Given the description of an element on the screen output the (x, y) to click on. 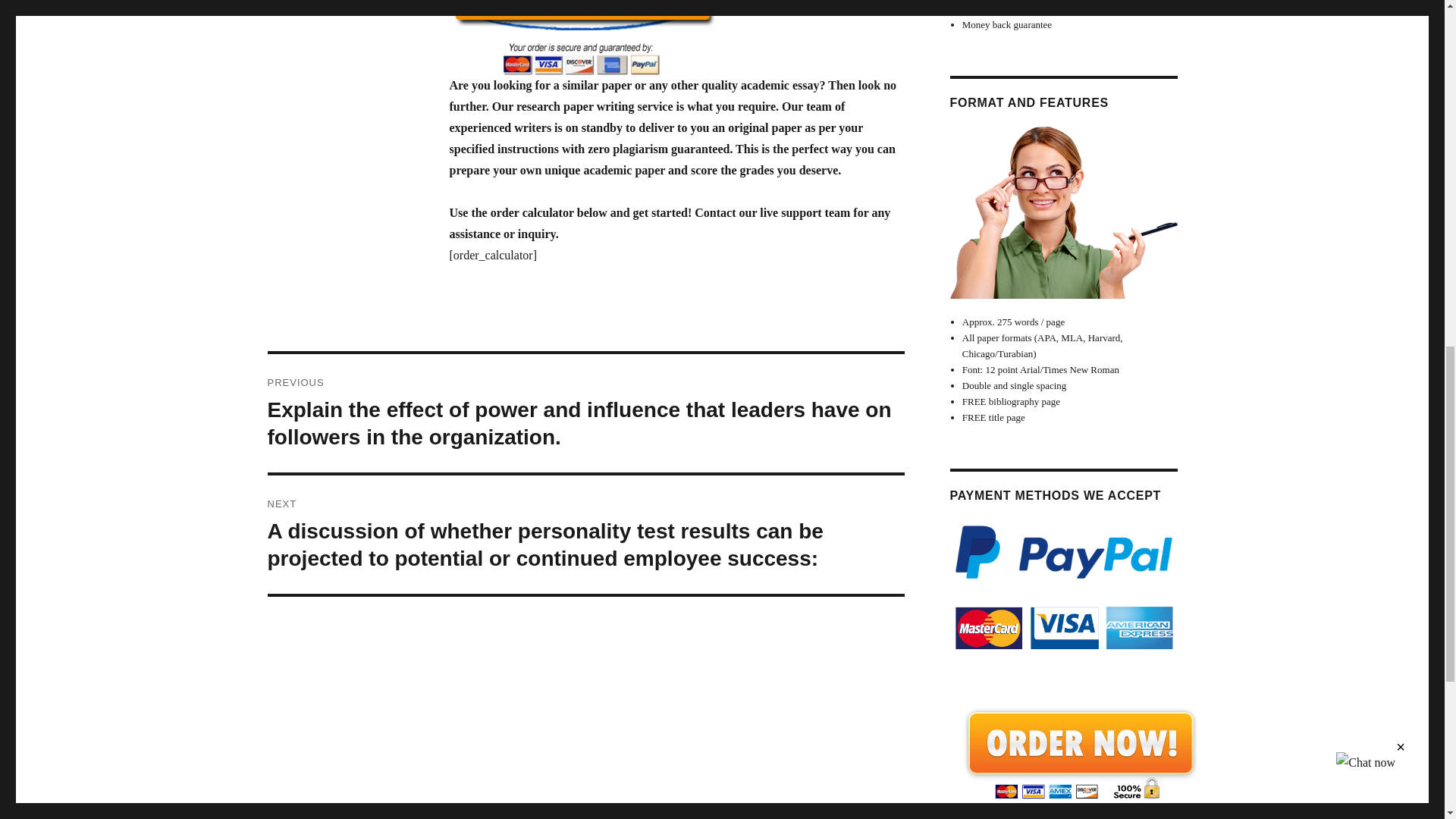
Click to Order (676, 37)
Click to Order (1079, 753)
